Given the description of an element on the screen output the (x, y) to click on. 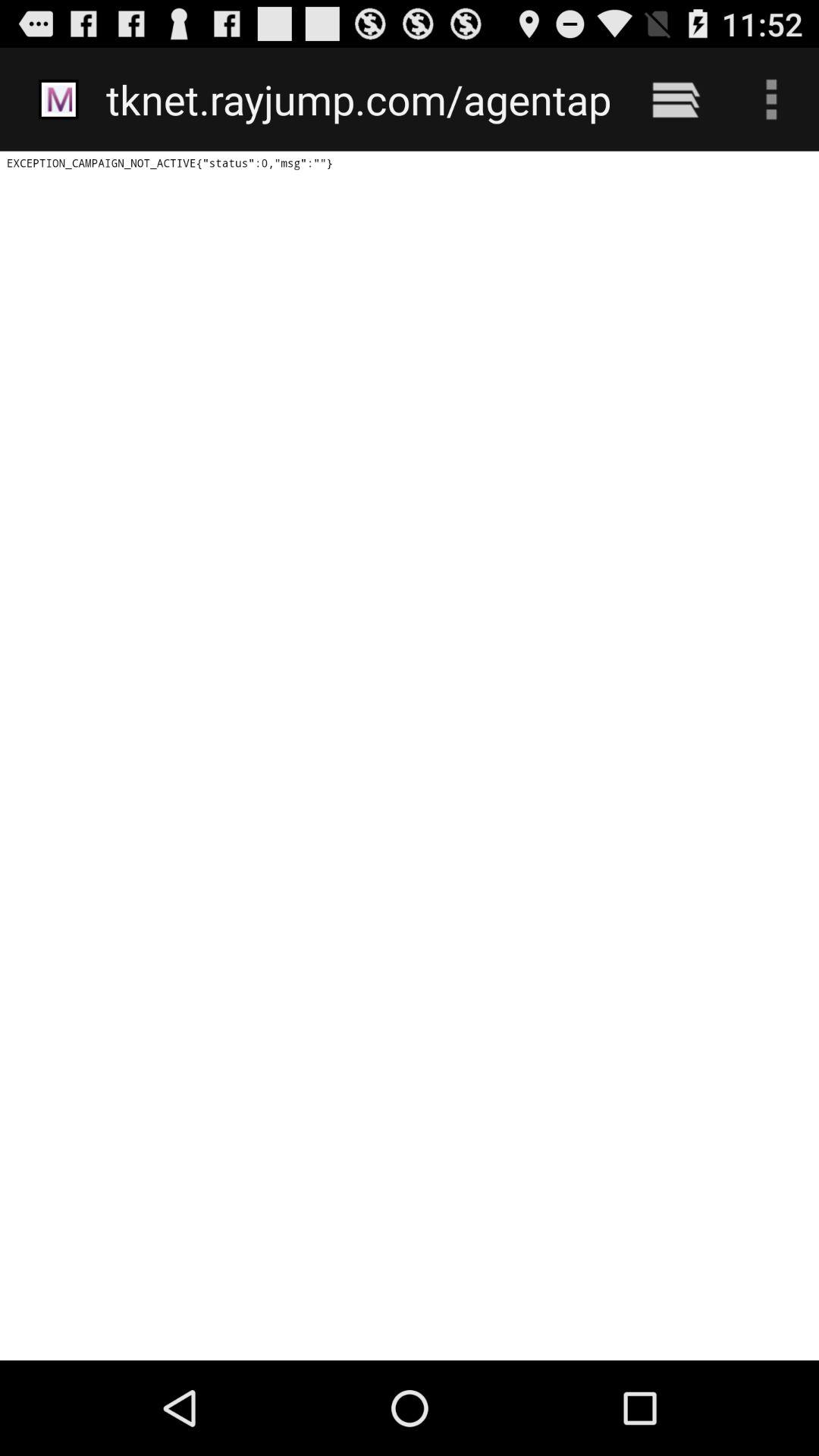
tap item at the top (357, 99)
